Given the description of an element on the screen output the (x, y) to click on. 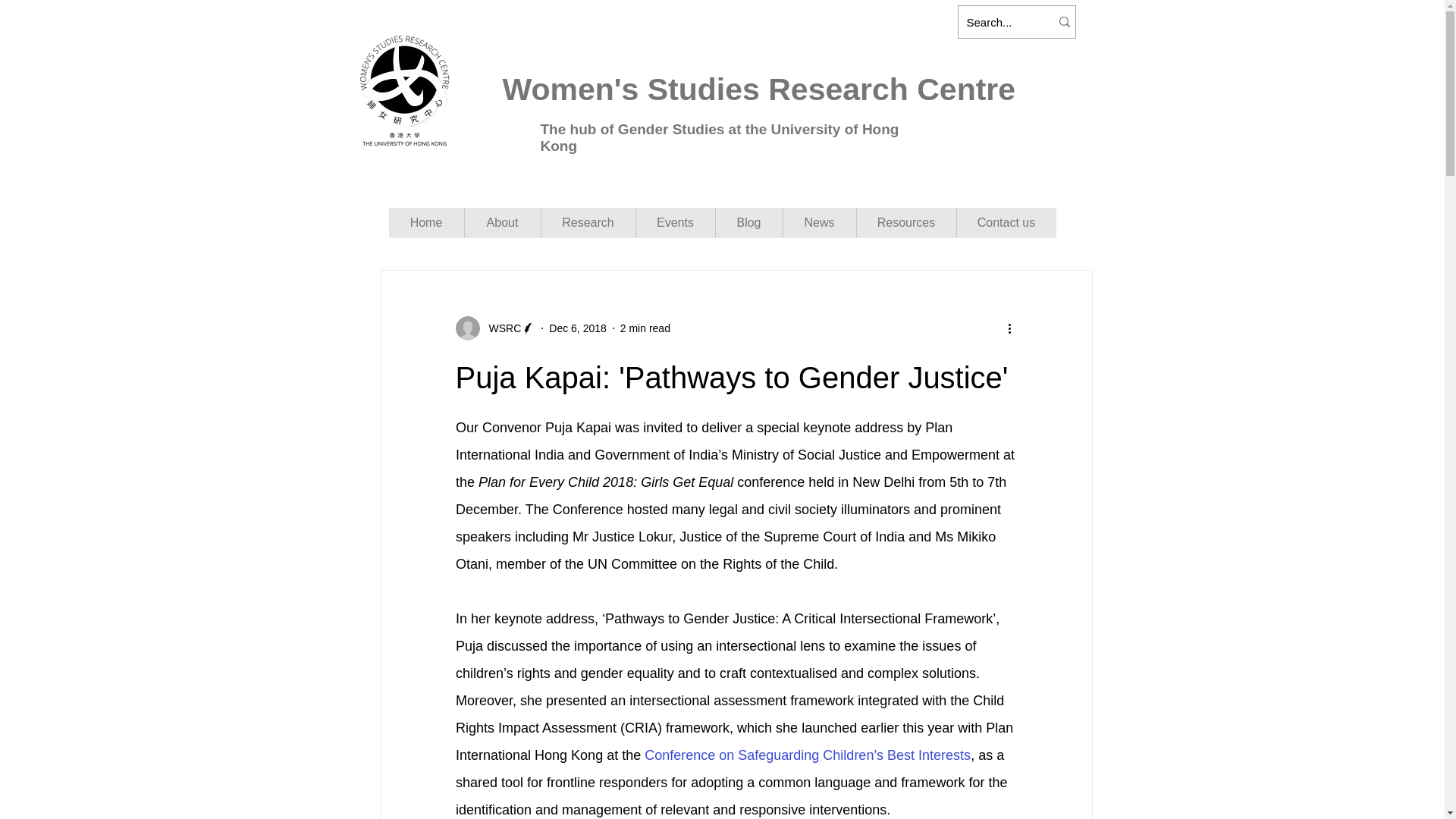
Research (587, 223)
WSRC (494, 328)
Home (425, 223)
WSRC  (500, 327)
Contact us (1005, 223)
2 min read (644, 327)
News (819, 223)
Resources (905, 223)
About (502, 223)
Dec 6, 2018 (577, 327)
Events (674, 223)
Women's Studies Research Centre (758, 89)
Blog (747, 223)
